Given the description of an element on the screen output the (x, y) to click on. 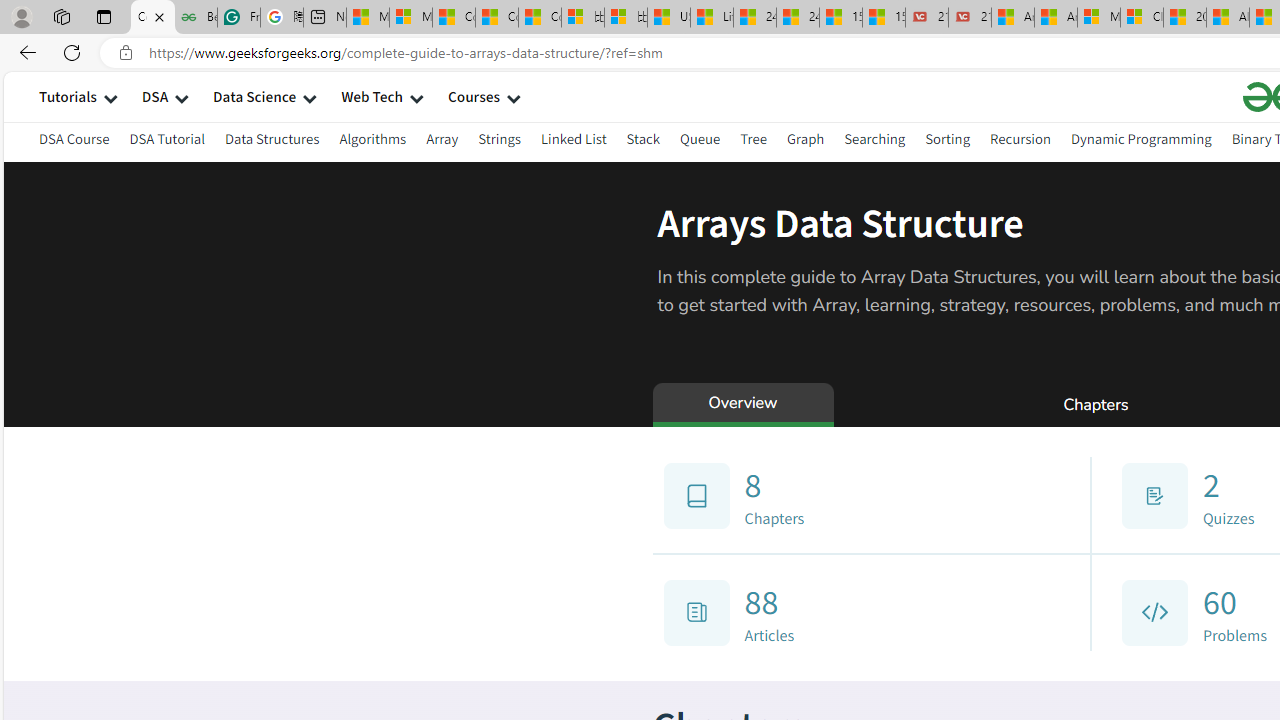
Data Structures (271, 142)
DSA Course (74, 138)
Tutorials (67, 96)
Strings (499, 142)
Stack (642, 142)
DSA Tutorial (167, 138)
Linked List (572, 142)
Algorithms (372, 142)
Sorting (947, 142)
Algorithms (372, 138)
Stack (642, 138)
